Given the description of an element on the screen output the (x, y) to click on. 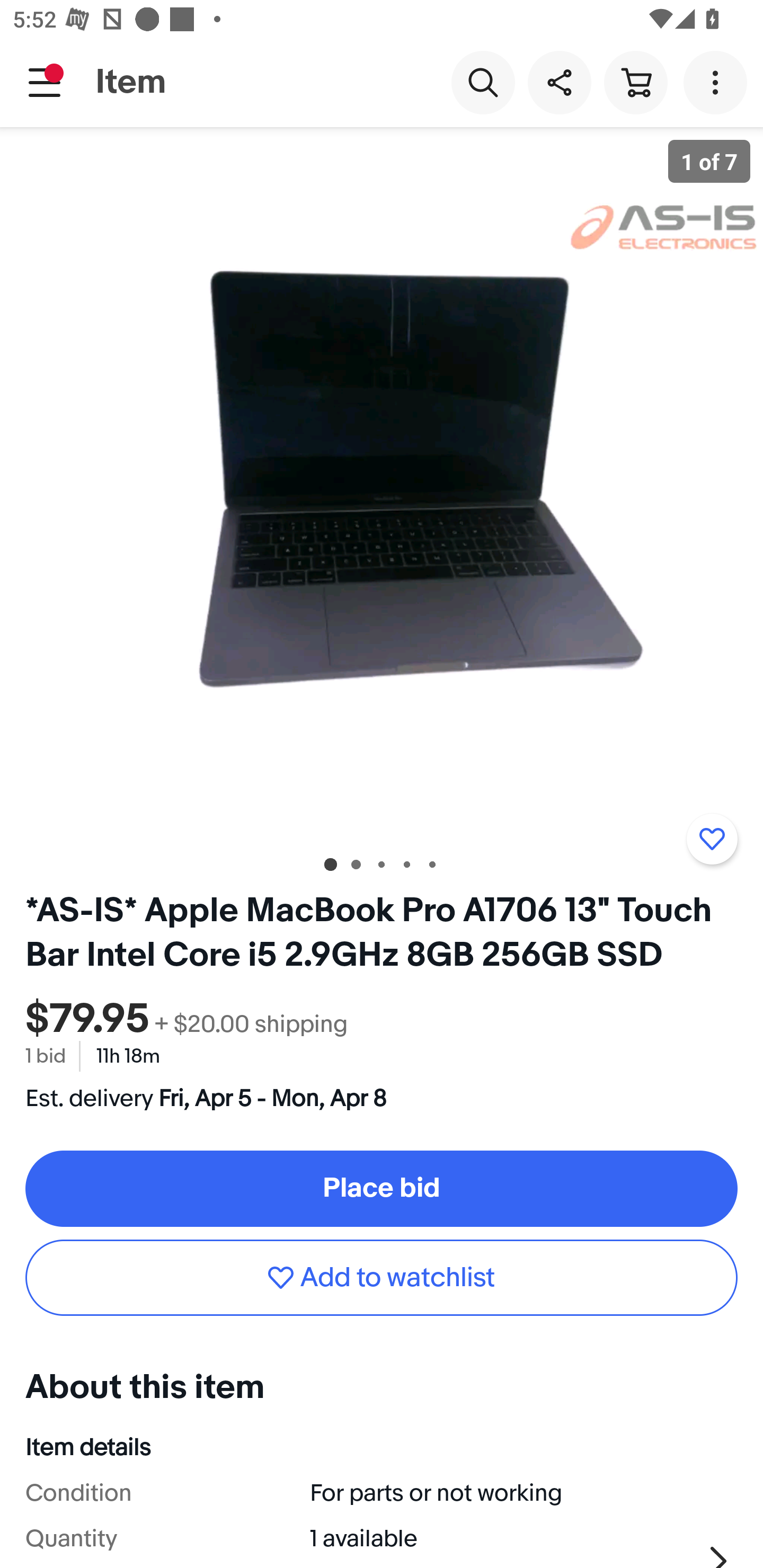
Main navigation, notification is pending, open (44, 82)
Search (482, 81)
Share this item (559, 81)
Cart button shopping cart (635, 81)
More options (718, 81)
Item image 1 of 7 (381, 482)
Add to watchlist (711, 838)
Place bid (381, 1188)
Add to watchlist (381, 1277)
